Given the description of an element on the screen output the (x, y) to click on. 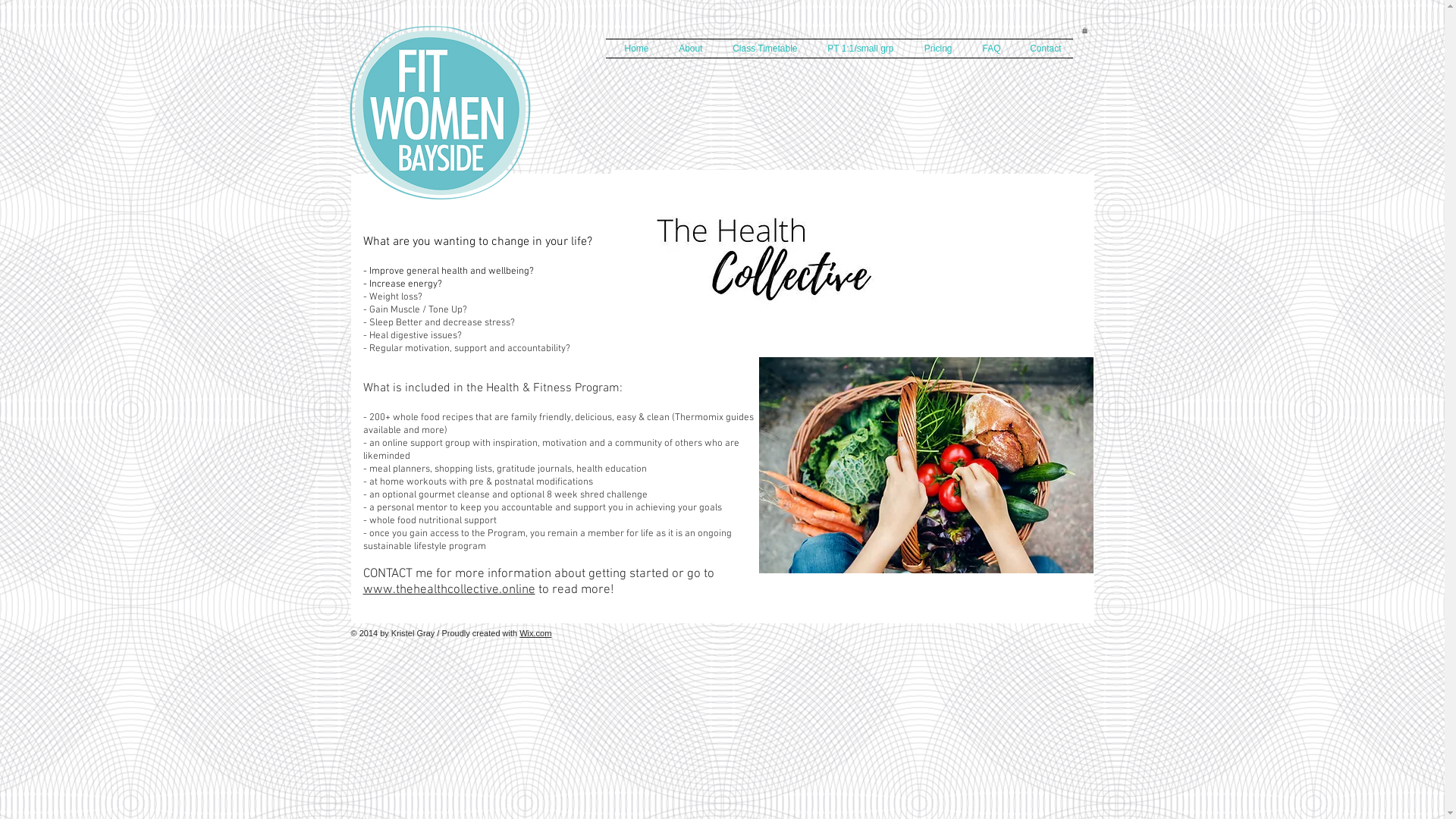
0 Element type: text (1083, 30)
Class Timetable Element type: text (761, 48)
FAQ Element type: text (987, 48)
About Element type: text (686, 48)
Wix.com Element type: text (535, 632)
PT 1:1/small grp Element type: text (856, 48)
www.thehealthcollective.online Element type: text (448, 589)
Pricing Element type: text (934, 48)
Home Element type: text (632, 48)
Contact Element type: text (1041, 48)
